Given the description of an element on the screen output the (x, y) to click on. 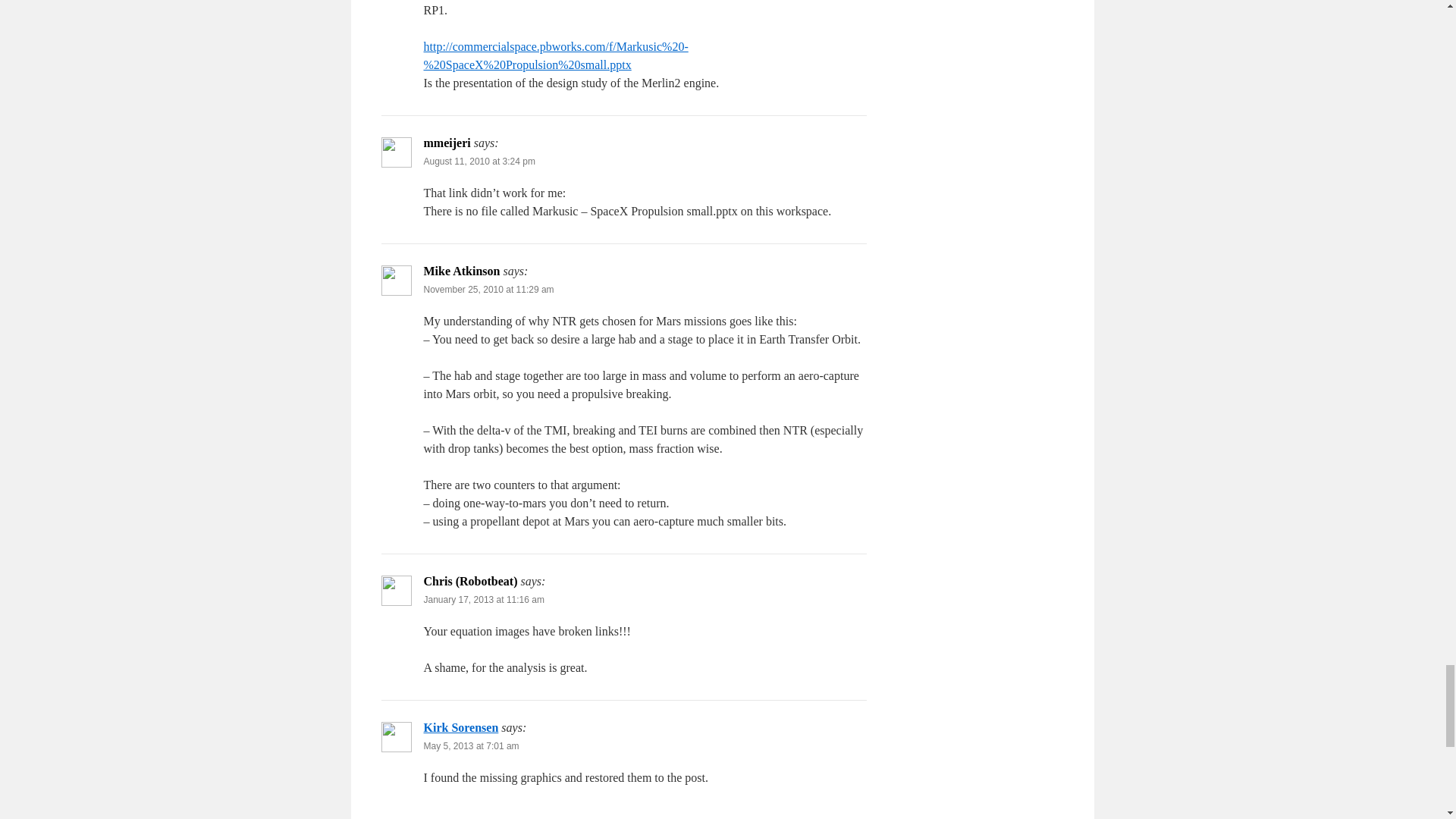
November 25, 2010 at 11:29 am (488, 289)
August 11, 2010 at 3:24 pm (478, 161)
